Given the description of an element on the screen output the (x, y) to click on. 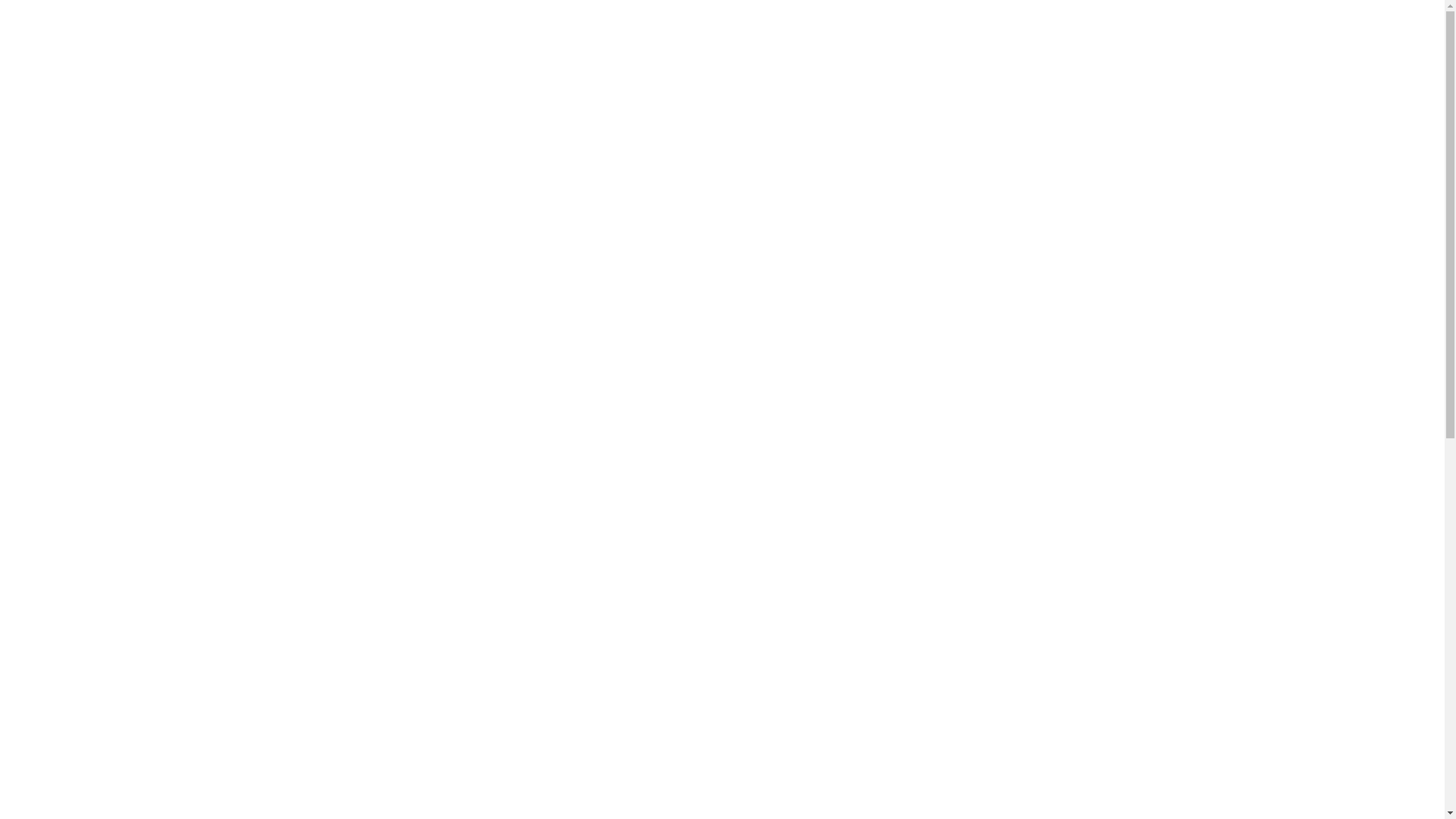
Skip to content Element type: text (0, 0)
Login/Register Element type: hover (1066, 33)
